Given the description of an element on the screen output the (x, y) to click on. 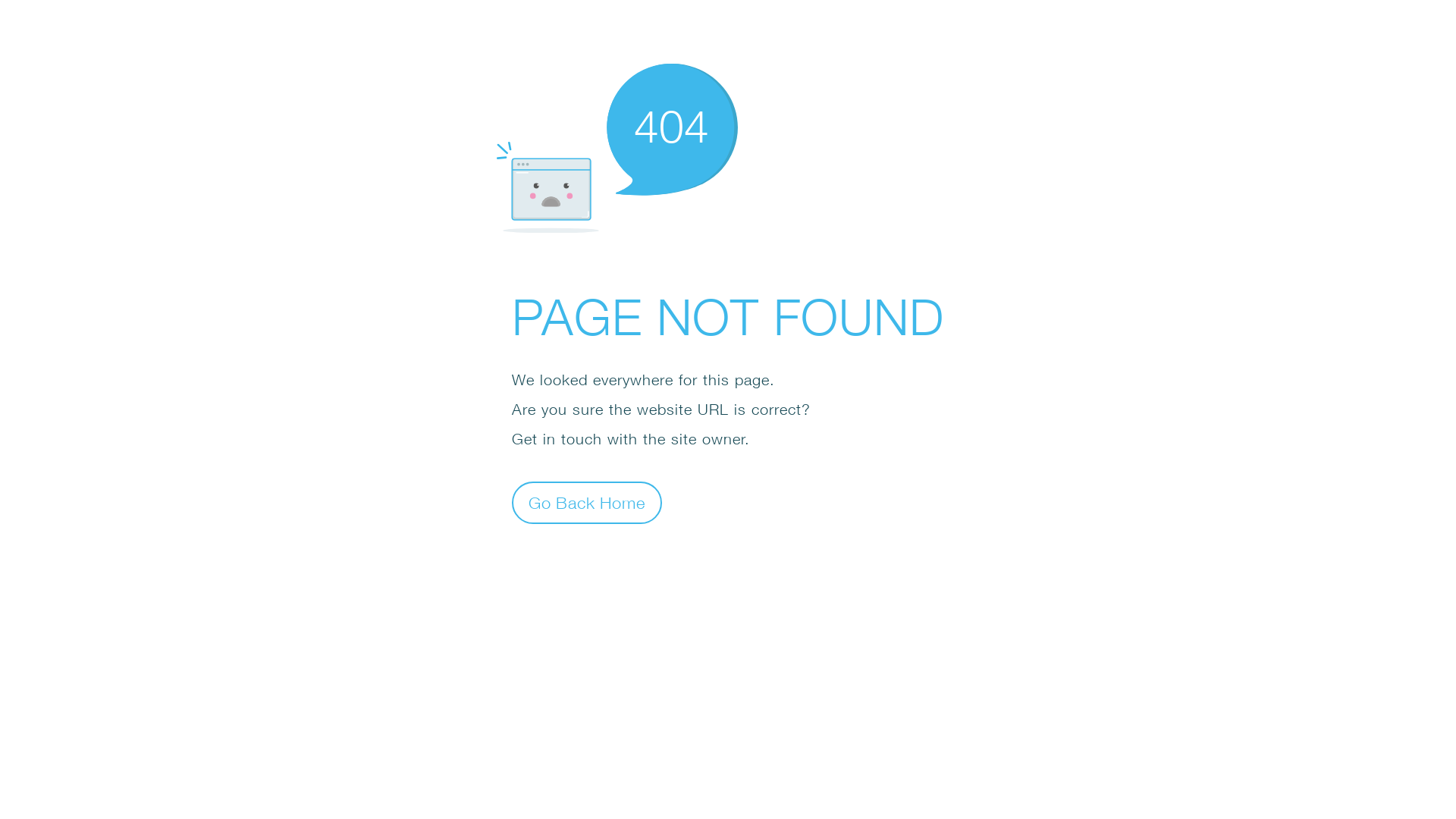
Go Back Home Element type: text (586, 502)
